Given the description of an element on the screen output the (x, y) to click on. 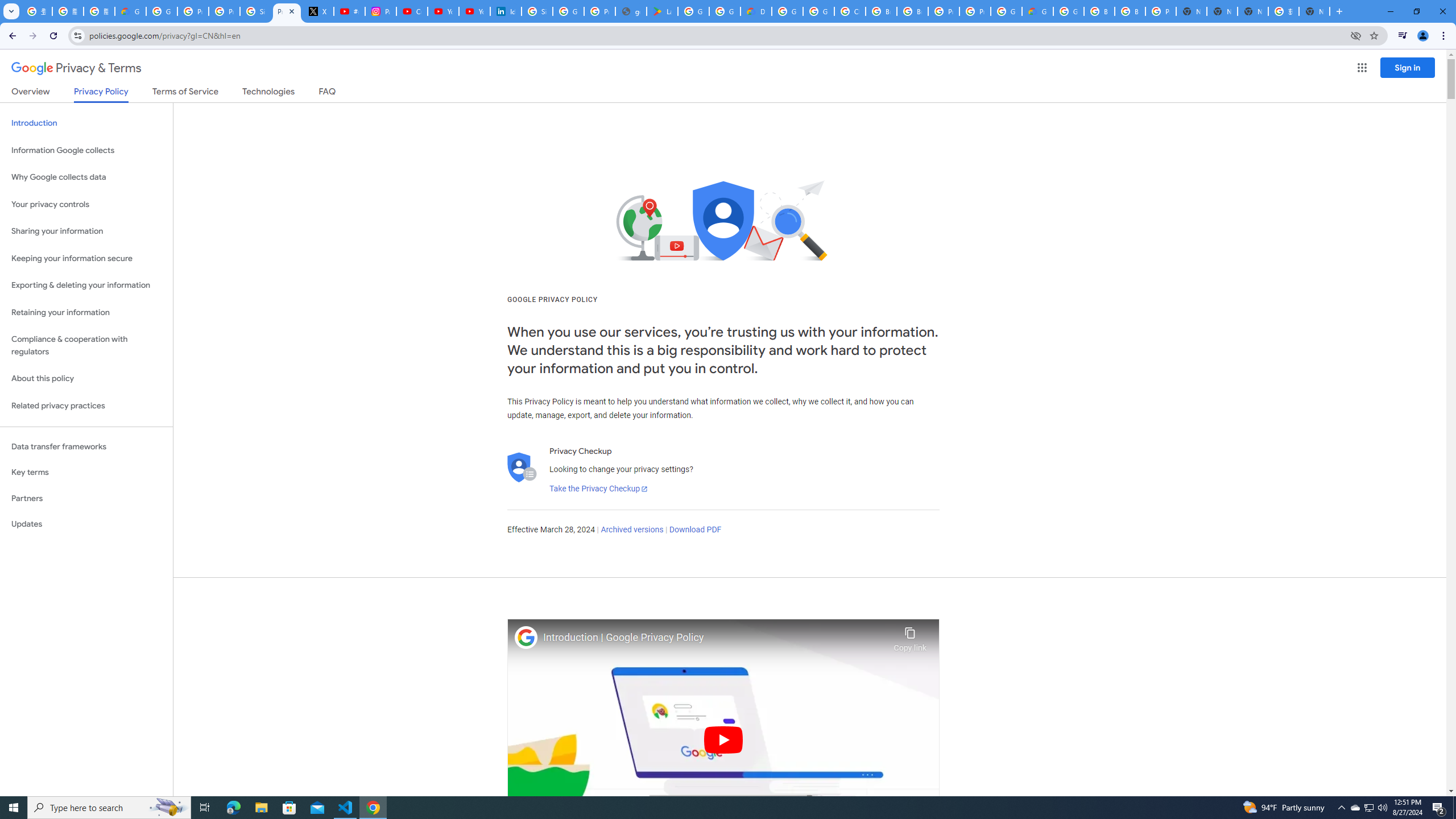
Keeping your information secure (86, 258)
X (318, 11)
Google Cloud Platform (1068, 11)
Take the Privacy Checkup (597, 488)
Sharing your information (86, 230)
